Given the description of an element on the screen output the (x, y) to click on. 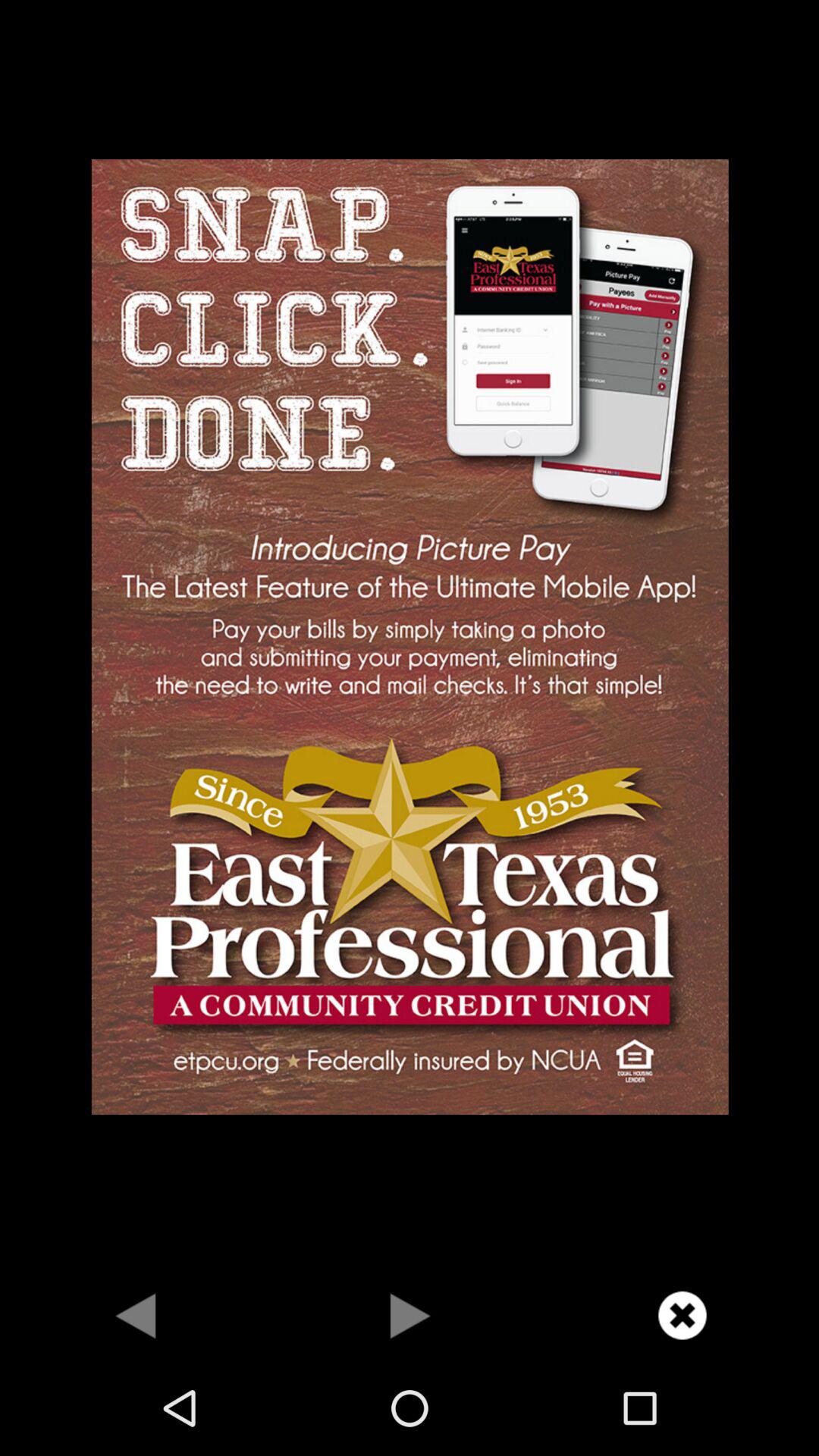
previous (136, 1315)
